Given the description of an element on the screen output the (x, y) to click on. 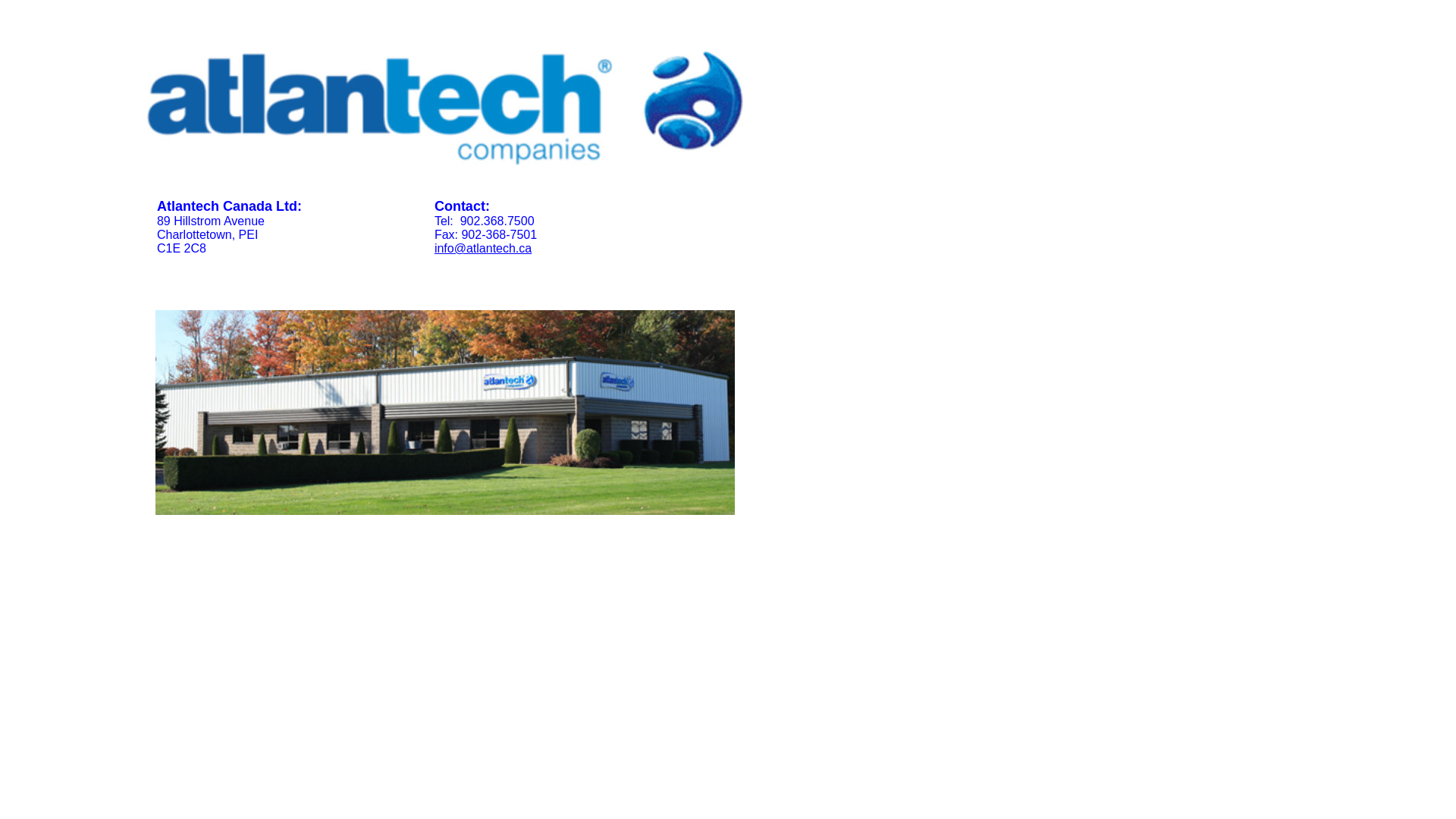
info@atlantech.ca Element type: text (482, 247)
